Given the description of an element on the screen output the (x, y) to click on. 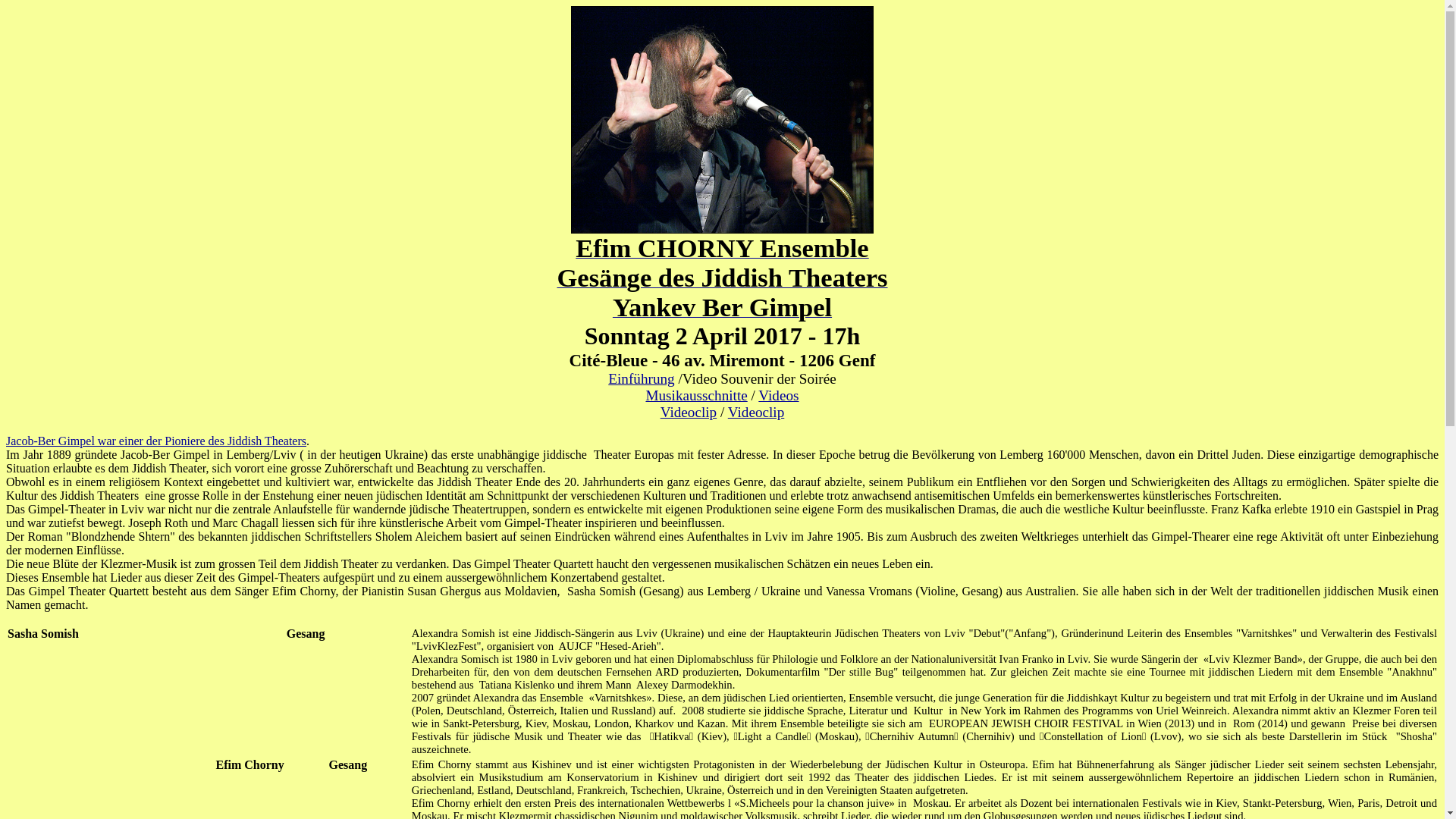
Jacob-Ber Gimpel war einer der Pioniere des Jiddish Theaters Element type: text (156, 440)
Musikausschnitte Element type: text (695, 395)
Videoclip Element type: text (756, 412)
Videos Element type: text (778, 395)
Videoclip Element type: text (688, 412)
